Given the description of an element on the screen output the (x, y) to click on. 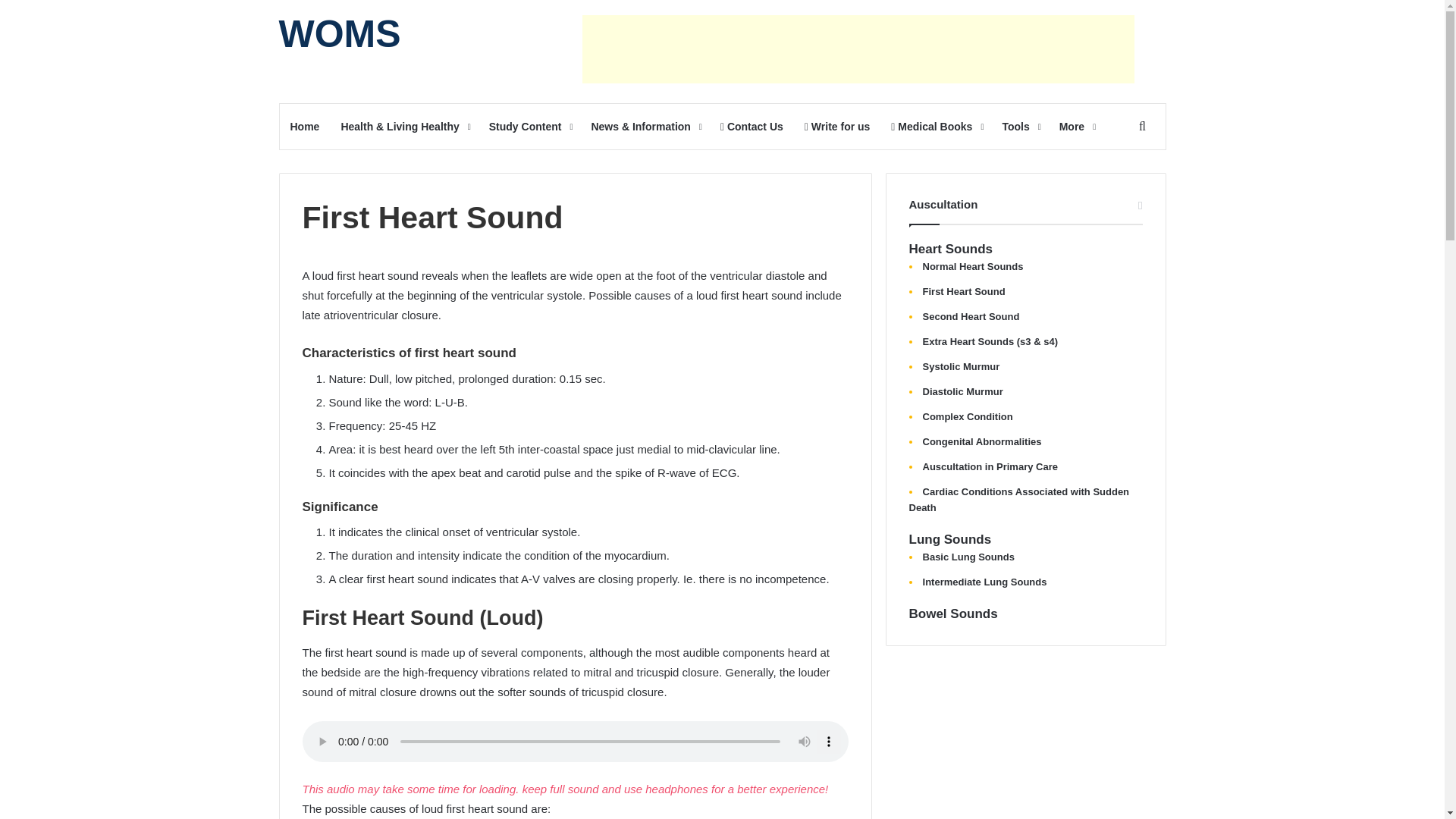
Medical Books (935, 126)
Write for us (836, 126)
Advertisement (858, 49)
Study Content (529, 126)
Home (304, 126)
WOMS (340, 34)
Contact Us (751, 126)
WOMS (340, 34)
